Given the description of an element on the screen output the (x, y) to click on. 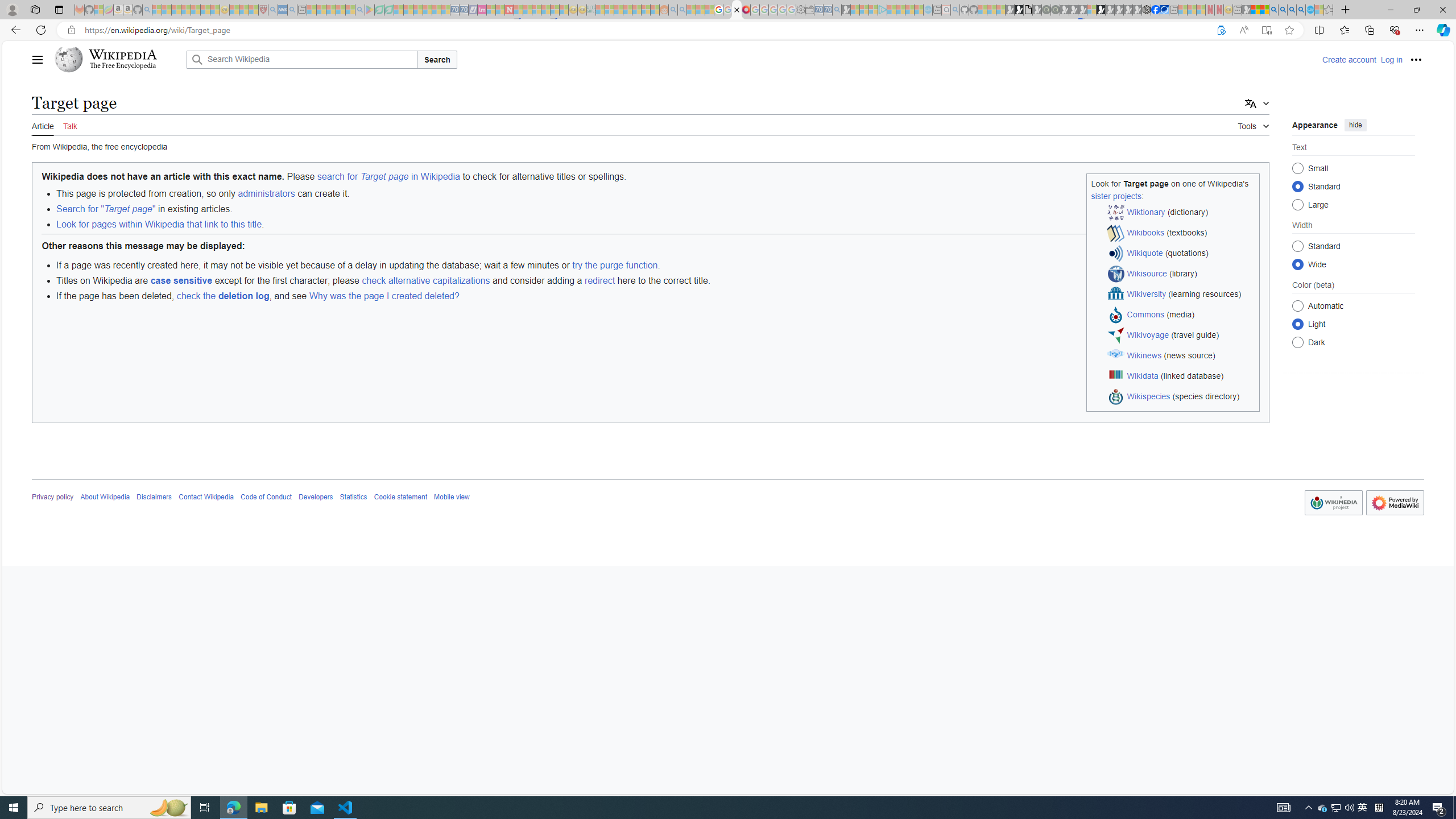
Wikiquote (1144, 252)
Wikimedia Foundation (1333, 502)
Talk (69, 124)
AutomationID: footer-poweredbyico (1394, 502)
Play Zoo Boom in your browser | Games from Microsoft Start (1018, 9)
Wikisource (library) (1181, 274)
redirect (599, 280)
Nordace - Cooler Bags (1146, 9)
Services - Maintenance | Sky Blue Bikes - Sky Blue Bikes (1309, 9)
AutomationID: footer-copyrightico (1333, 502)
Statistics (352, 496)
Create account (1348, 58)
